Given the description of an element on the screen output the (x, y) to click on. 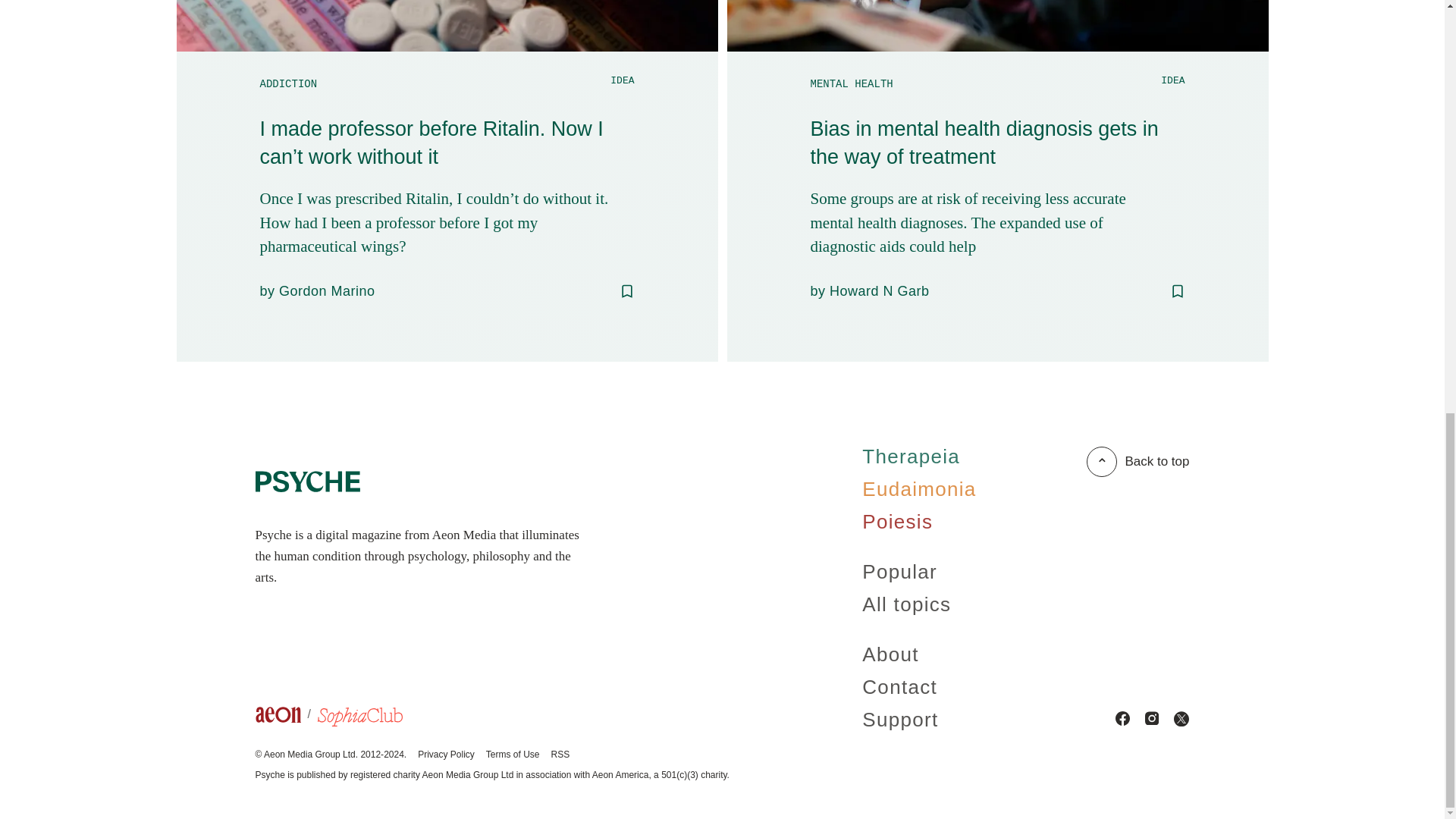
Aeon (285, 717)
Sophia Club (360, 718)
